Given the description of an element on the screen output the (x, y) to click on. 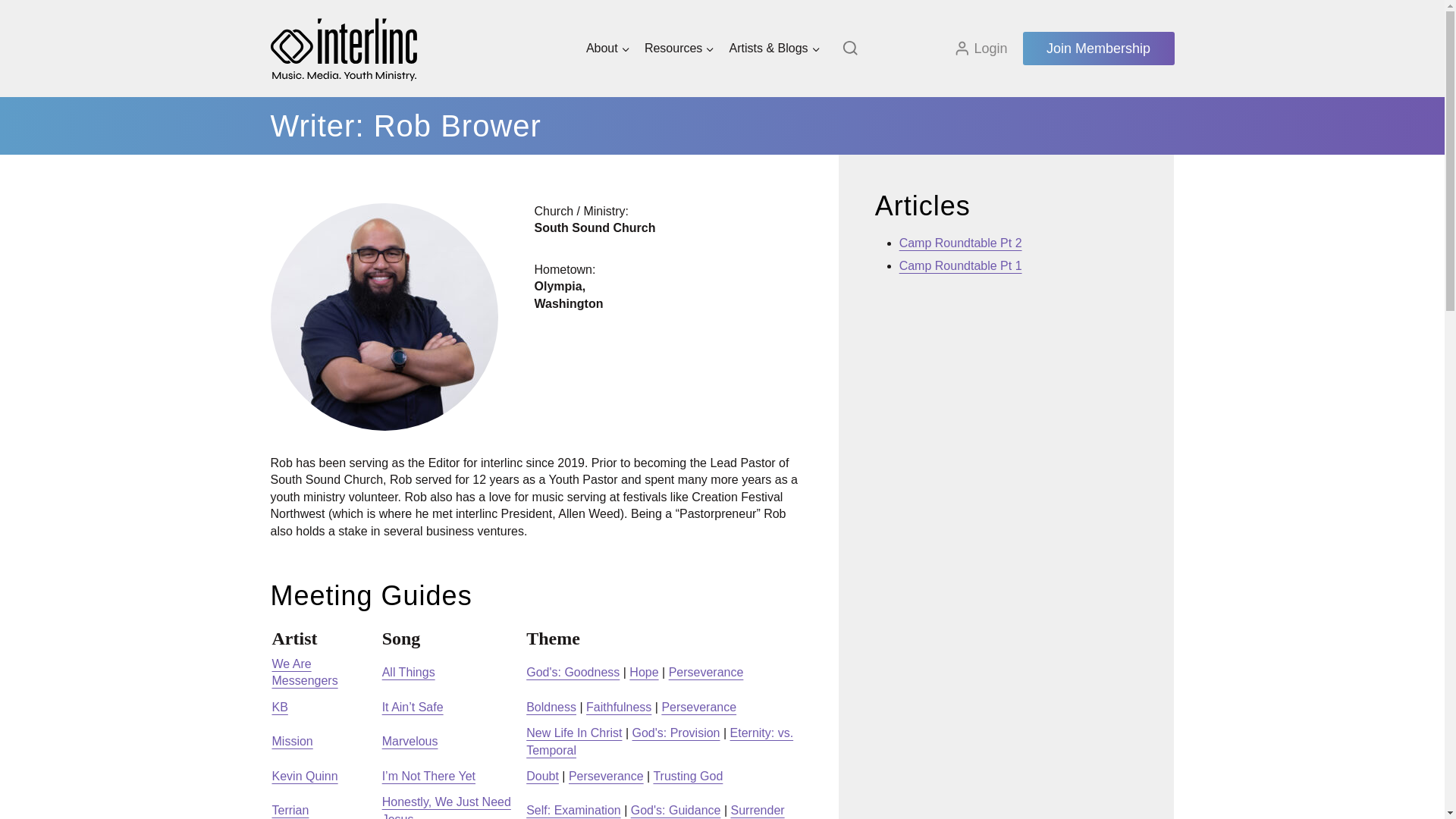
Faithfulness (618, 707)
Mission (291, 740)
Login (980, 48)
God's: Goodness (572, 671)
All Things (408, 671)
About (607, 48)
Perseverance (698, 707)
Hope (643, 671)
Perseverance (706, 671)
We Are Messengers (303, 672)
KB (278, 707)
Boldness (550, 707)
Resources (679, 48)
Join Membership (1097, 47)
